Given the description of an element on the screen output the (x, y) to click on. 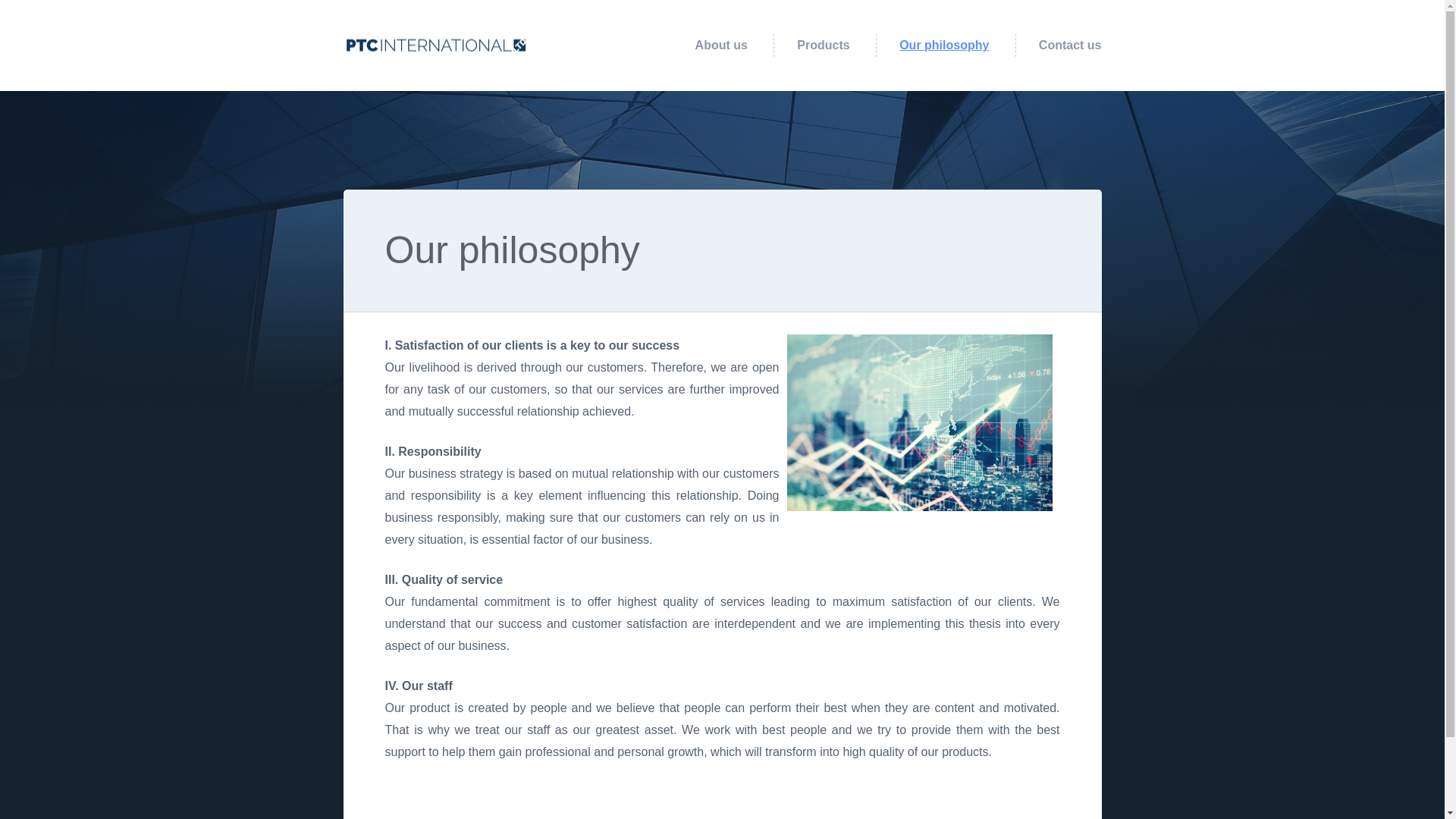
Our philosophy (943, 45)
Products (822, 45)
Contact us (1070, 45)
About us (721, 45)
PROTTECO INTERNATIONAL LTD. (467, 45)
